Given the description of an element on the screen output the (x, y) to click on. 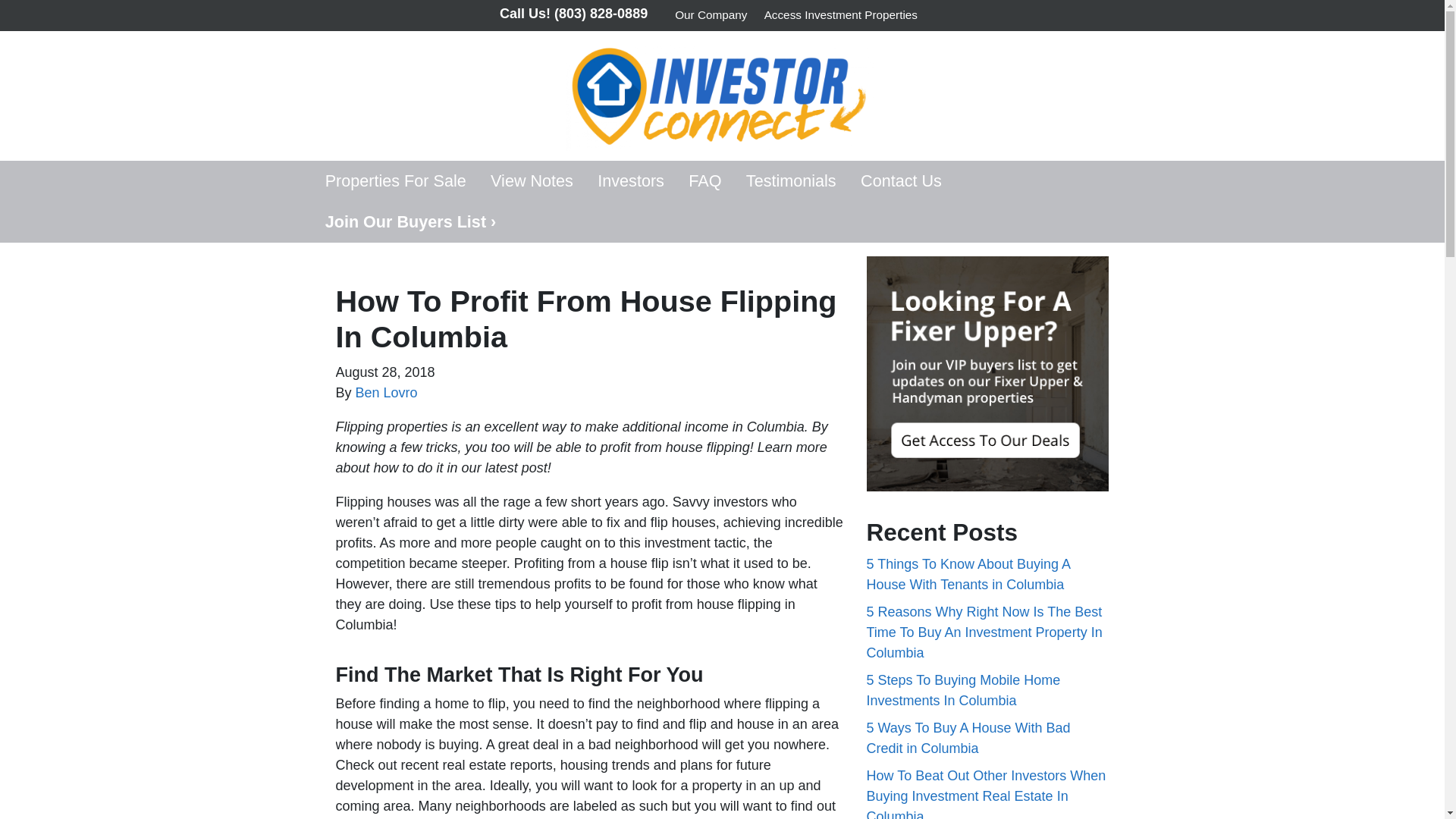
Our Company (711, 15)
Ben Lovro (386, 392)
Testimonials (790, 180)
View Notes (532, 180)
Contact Us (900, 180)
Contact Us (900, 180)
Properties For Sale (395, 180)
FAQ (705, 180)
Investors (631, 180)
5 Ways To Buy A House With Bad Credit in Columbia (968, 737)
5 Steps To Buying Mobile Home Investments In Columbia (962, 690)
Properties For Sale (395, 180)
Testimonials (790, 180)
